Given the description of an element on the screen output the (x, y) to click on. 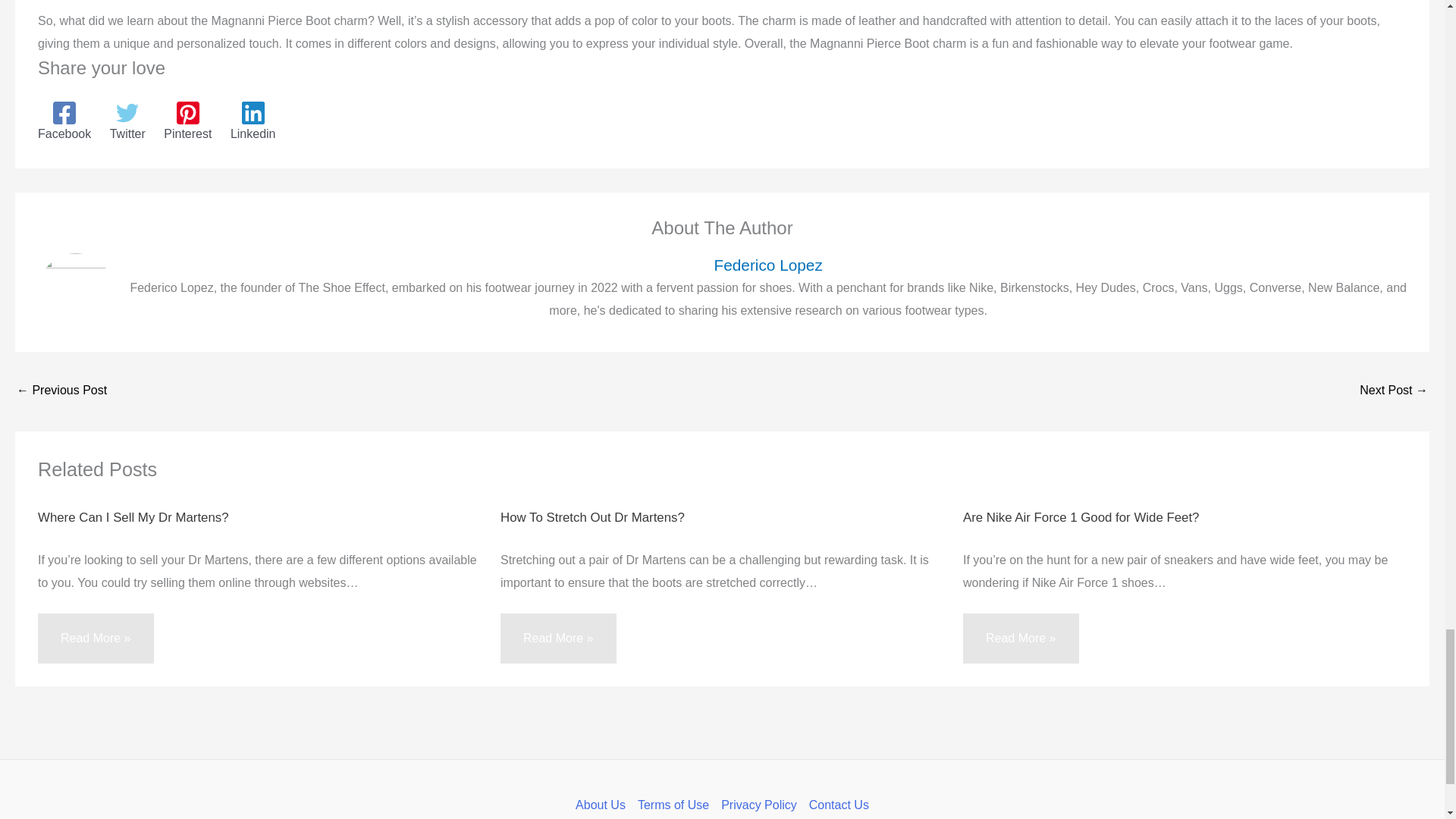
Are Nike Air Force 1 Good for Wide Feet? (1080, 517)
Contact Us (836, 804)
Facebook (63, 120)
Linkedin (253, 120)
Federico Lopez (767, 264)
Twitter (127, 120)
How Long Are Under Armour Shoe Laces? (1393, 391)
About Us (603, 804)
How To Stretch Out Dr Martens? (592, 517)
Privacy Policy (758, 804)
